Given the description of an element on the screen output the (x, y) to click on. 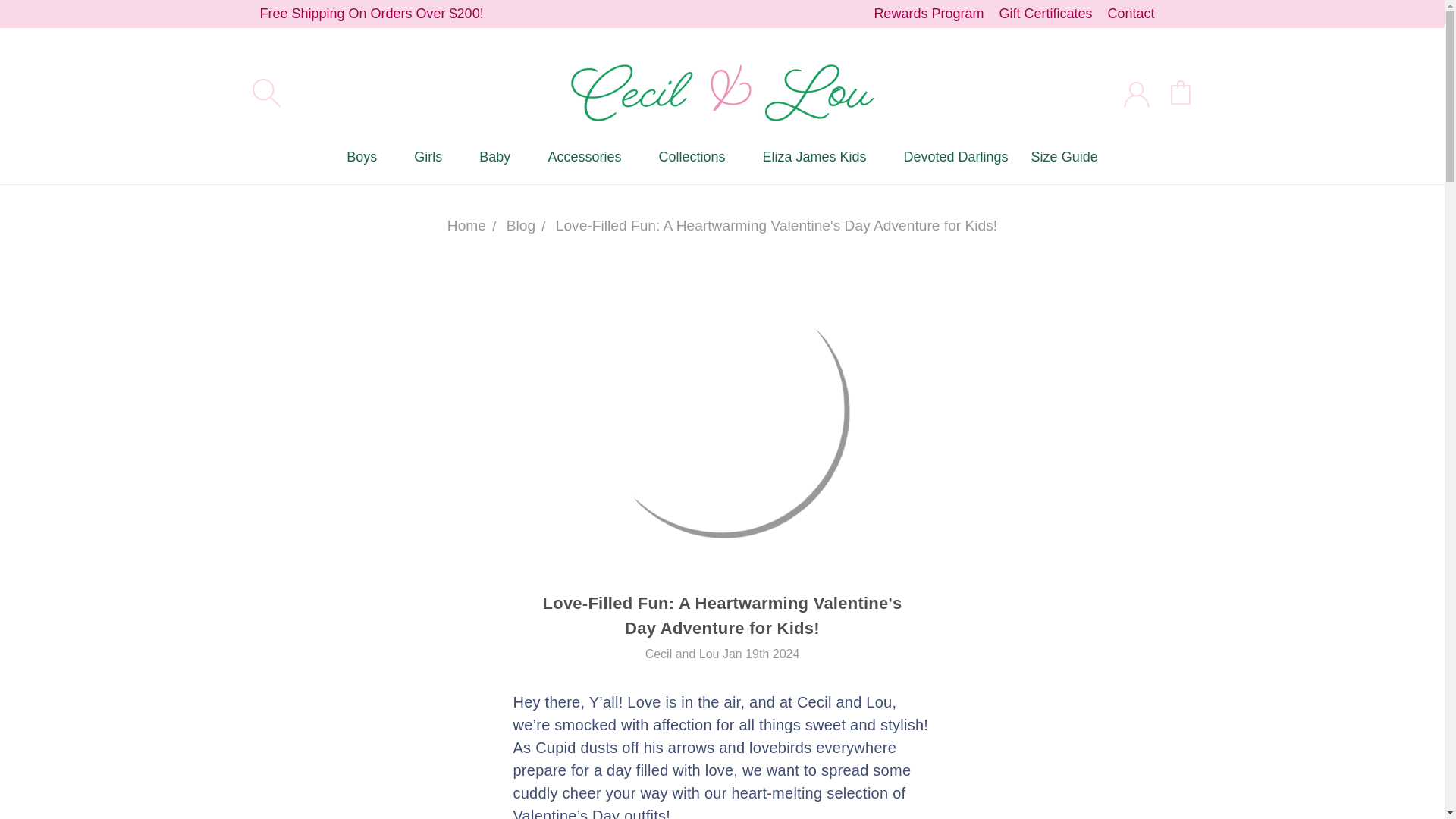
Girls (435, 156)
Contact (1130, 13)
Boys (368, 156)
Gift Certificates (1045, 13)
Rewards Program (928, 13)
Baby (501, 156)
Accessories (590, 156)
Cecil and Lou (721, 91)
